Given the description of an element on the screen output the (x, y) to click on. 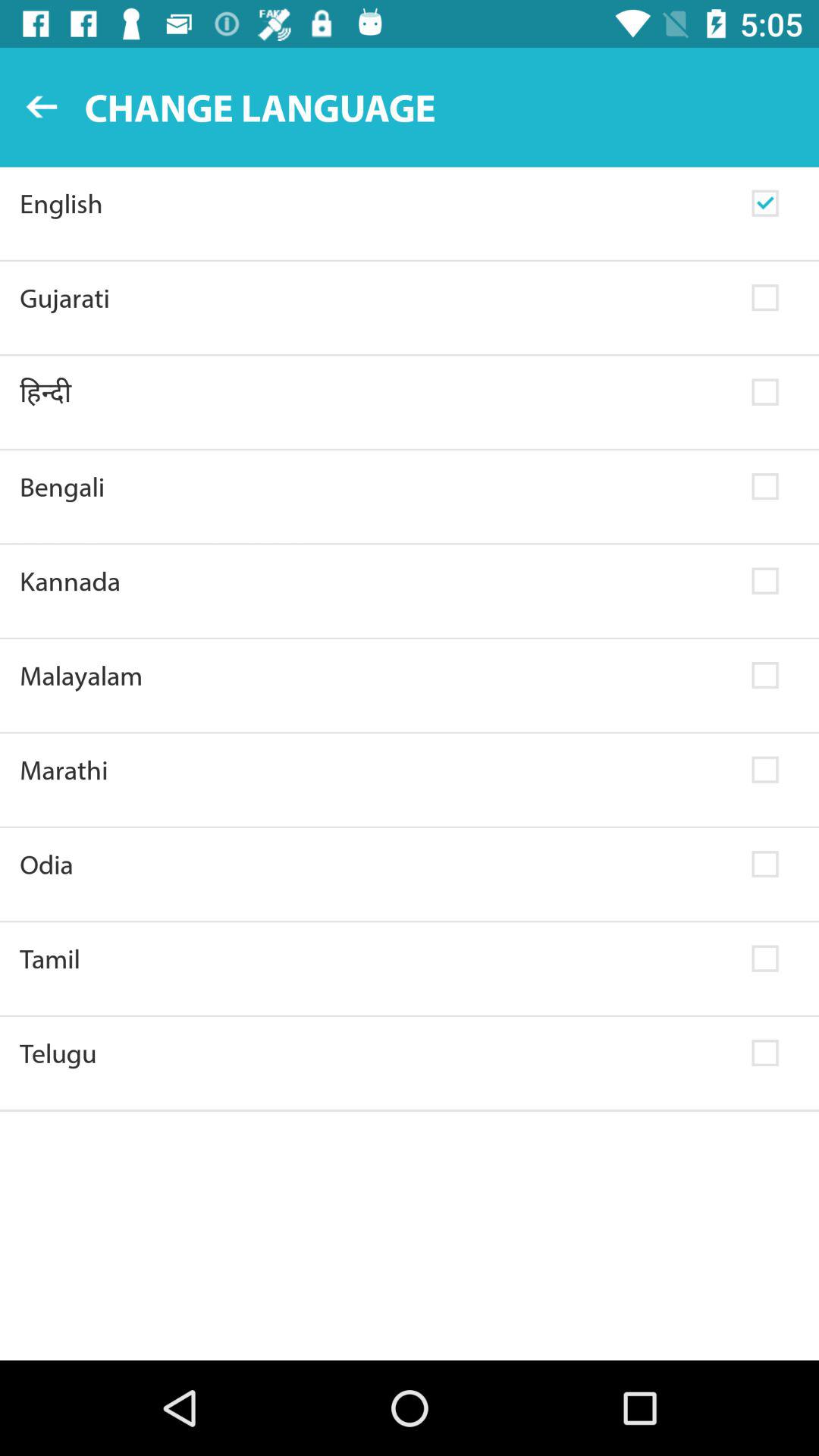
launch the telugu (375, 1052)
